Given the description of an element on the screen output the (x, y) to click on. 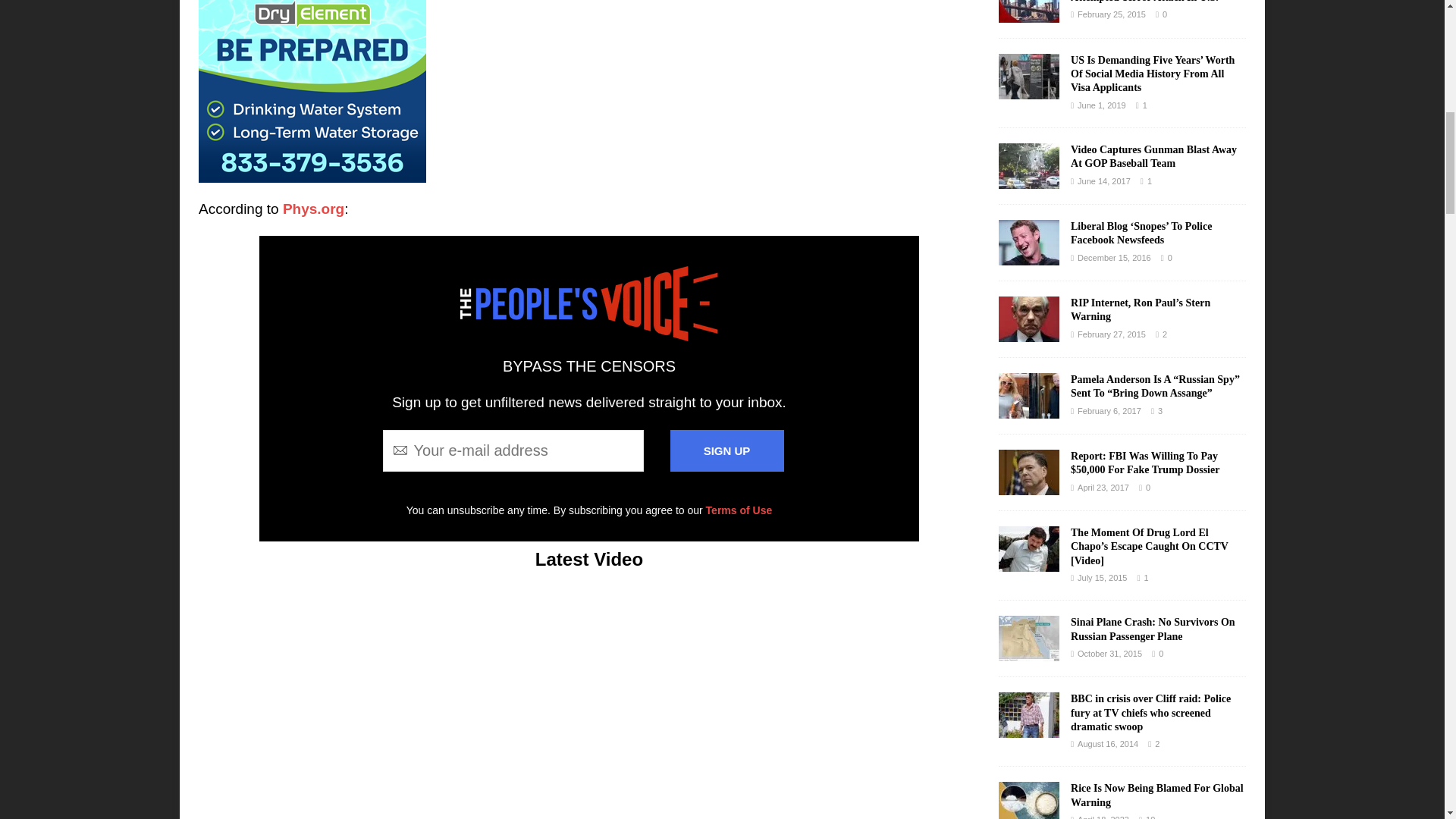
SIGN UP (726, 450)
